Given the description of an element on the screen output the (x, y) to click on. 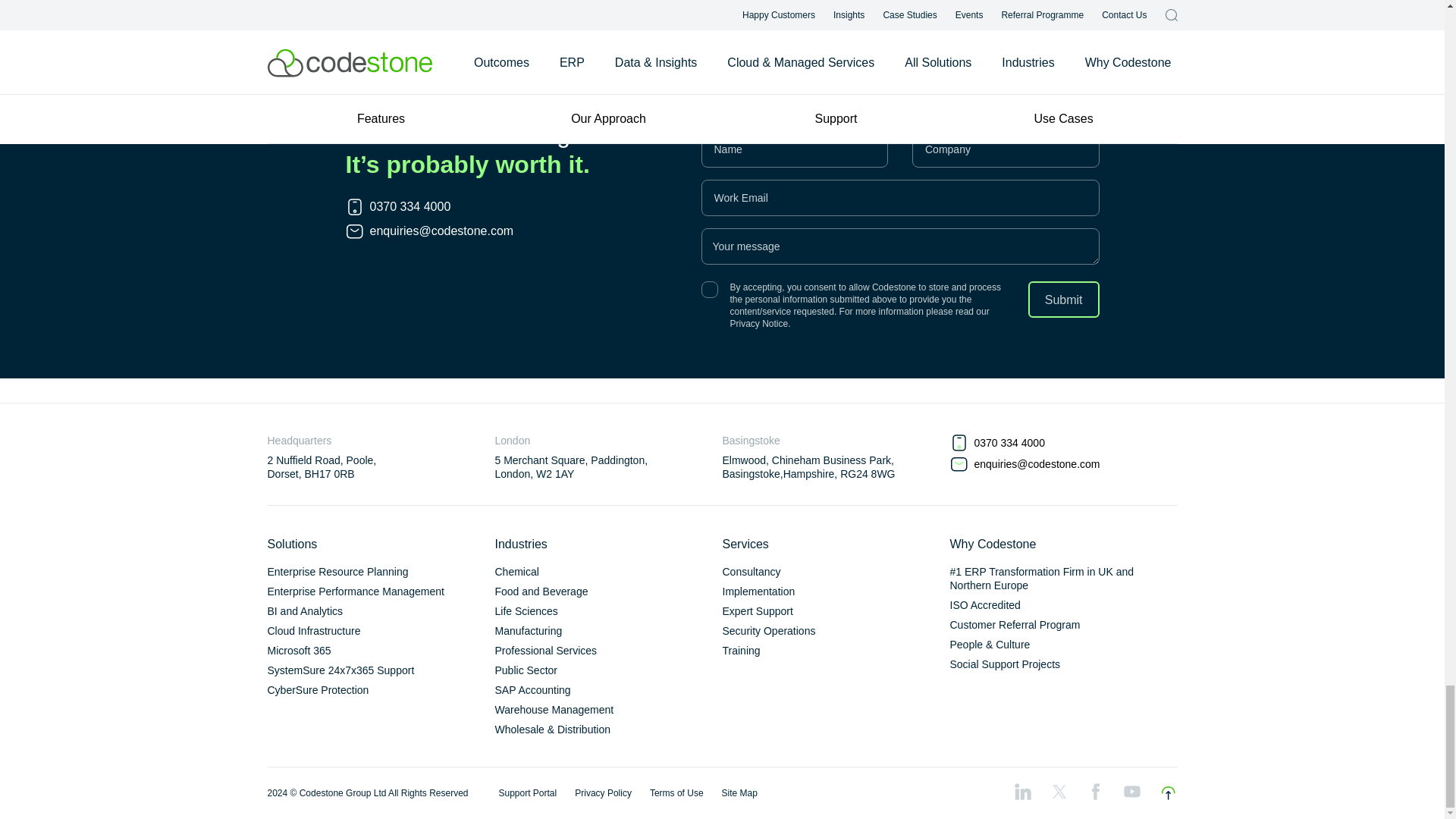
Submit (1063, 299)
